Given the description of an element on the screen output the (x, y) to click on. 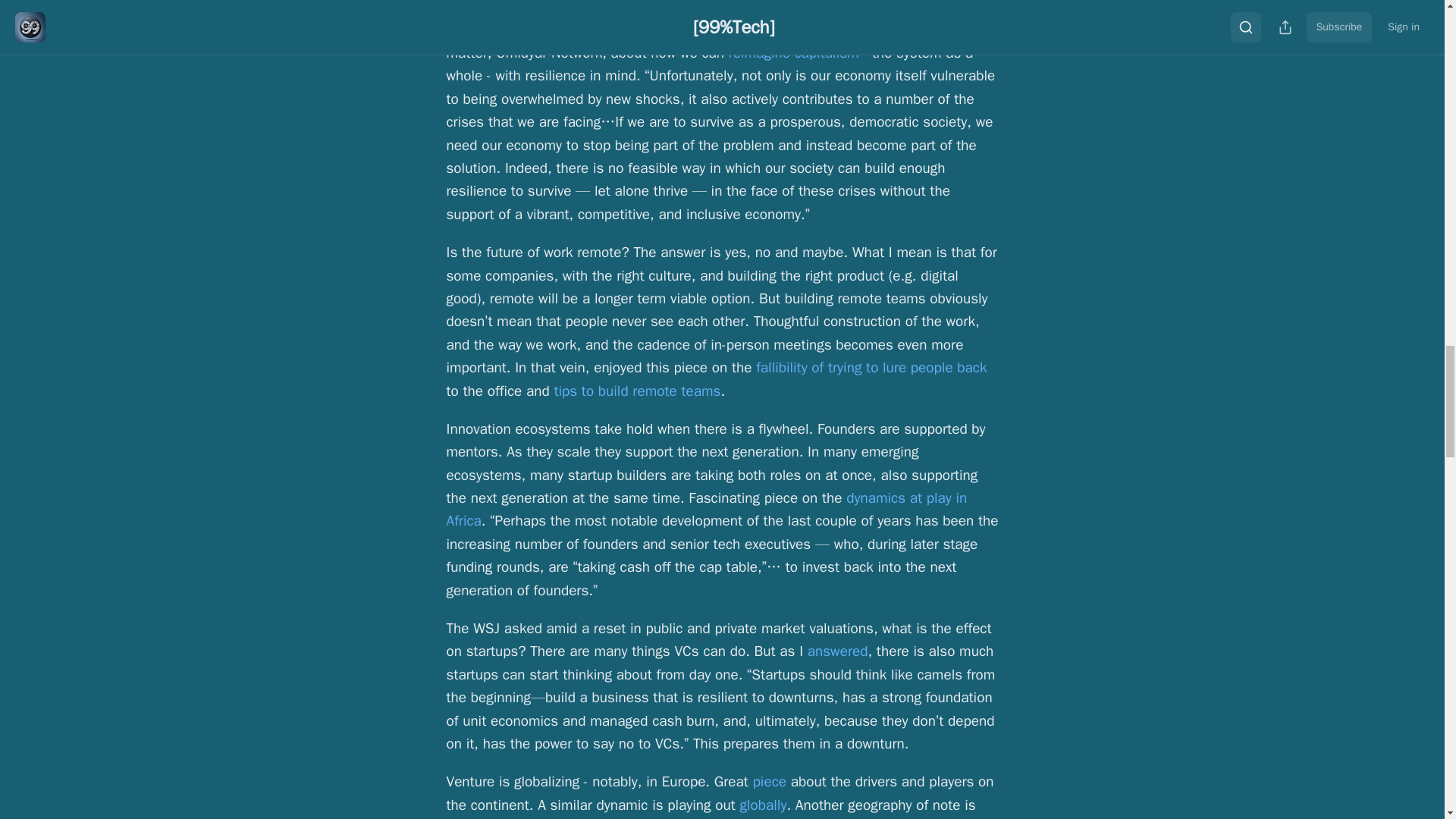
tips to build remote teams (636, 391)
fallibility of trying to lure people back (871, 367)
reimagine capitalism (794, 53)
